Given the description of an element on the screen output the (x, y) to click on. 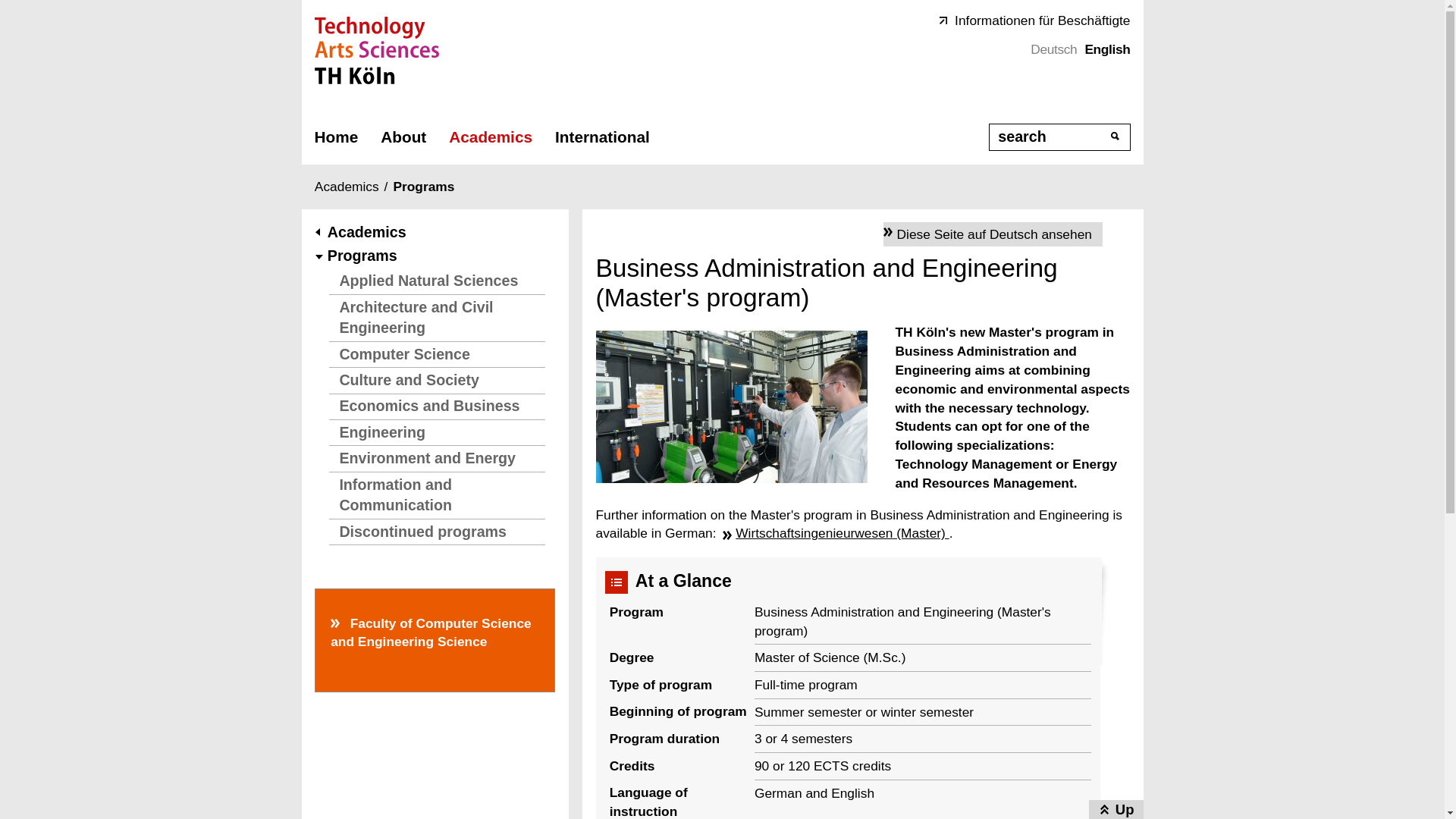
Deutsch (1053, 48)
About (403, 136)
Home (335, 136)
